Given the description of an element on the screen output the (x, y) to click on. 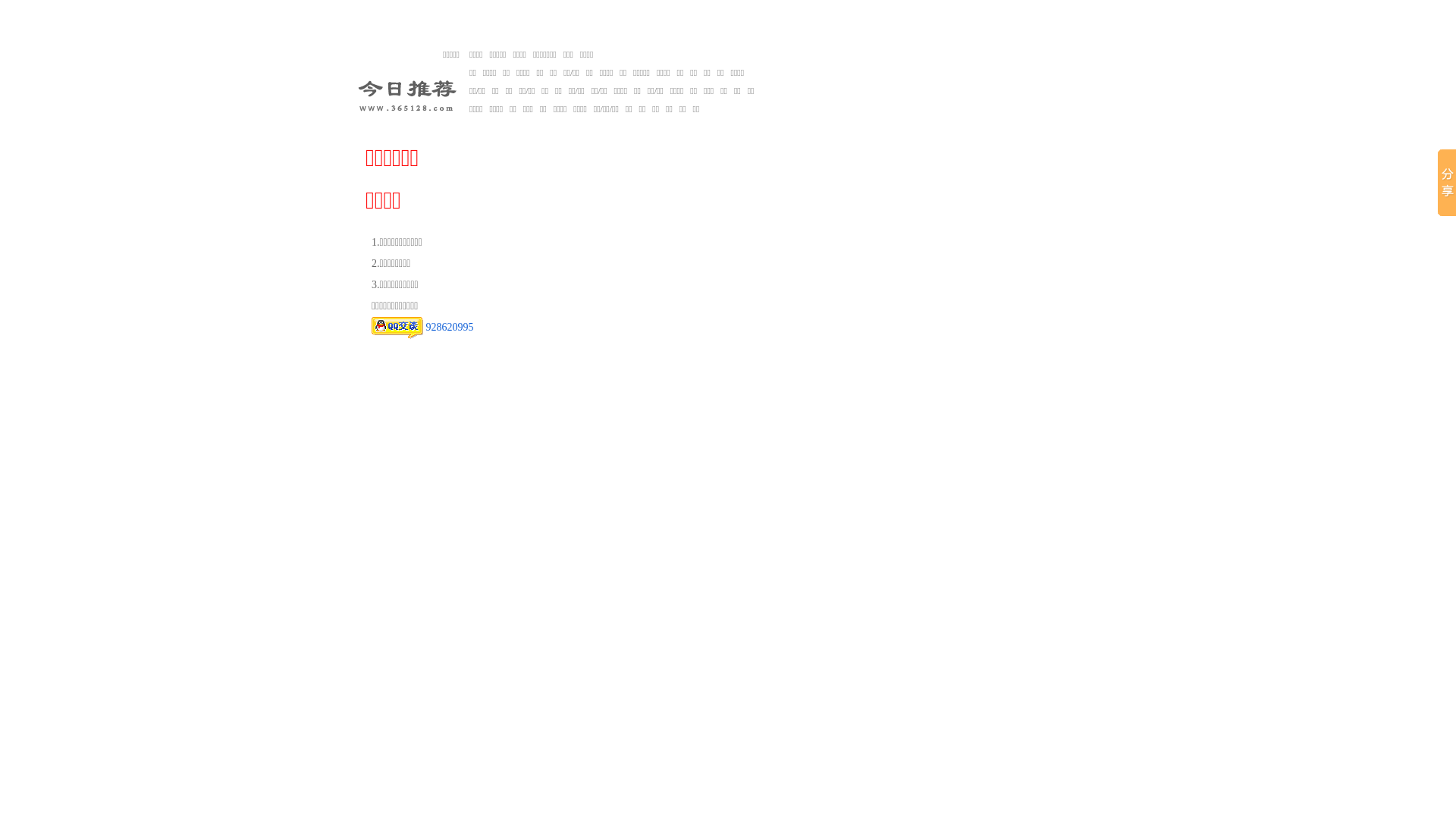
928620995 Element type: text (422, 326)
